Given the description of an element on the screen output the (x, y) to click on. 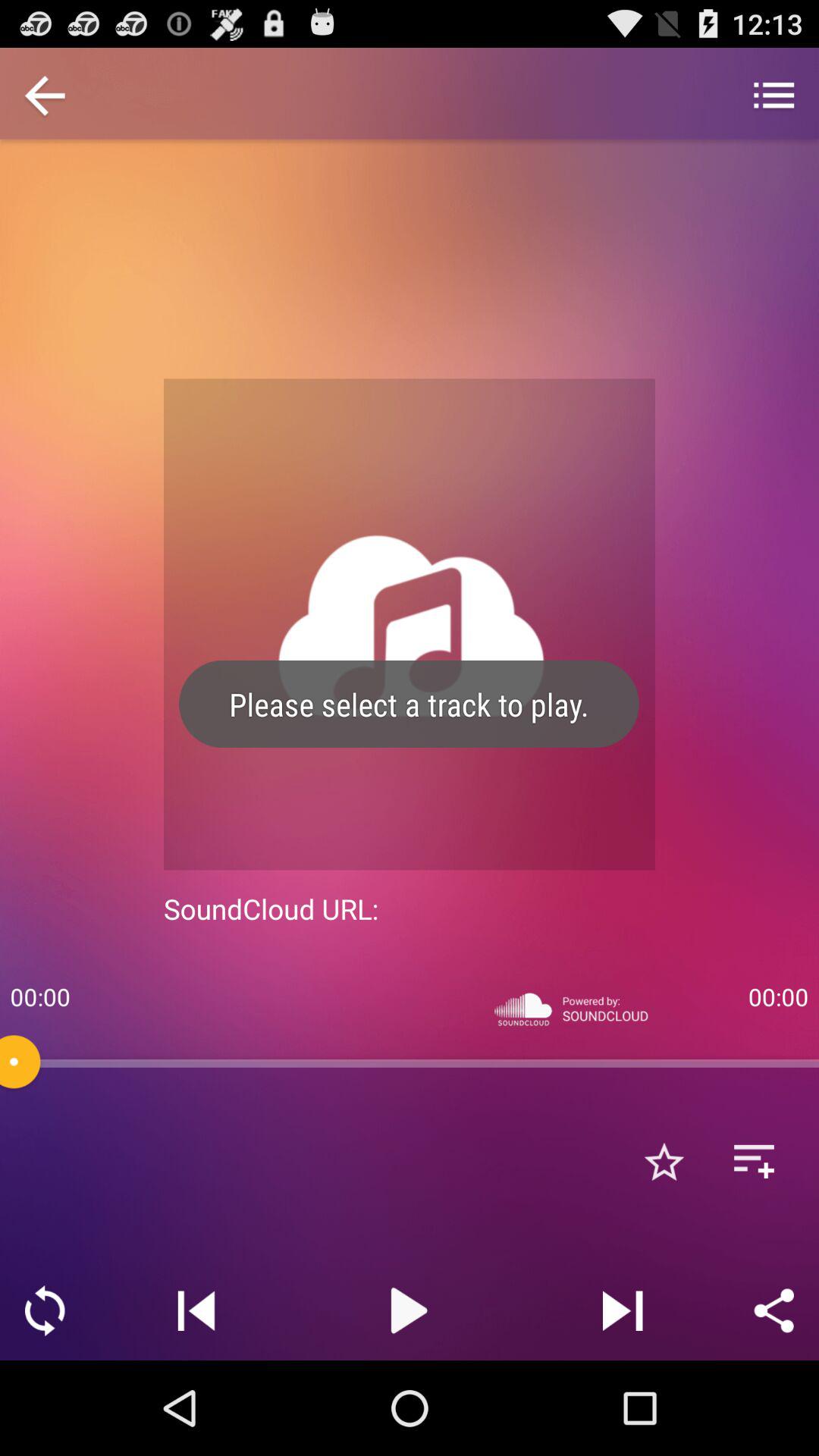
launch the icon above 00:00 icon (44, 97)
